Given the description of an element on the screen output the (x, y) to click on. 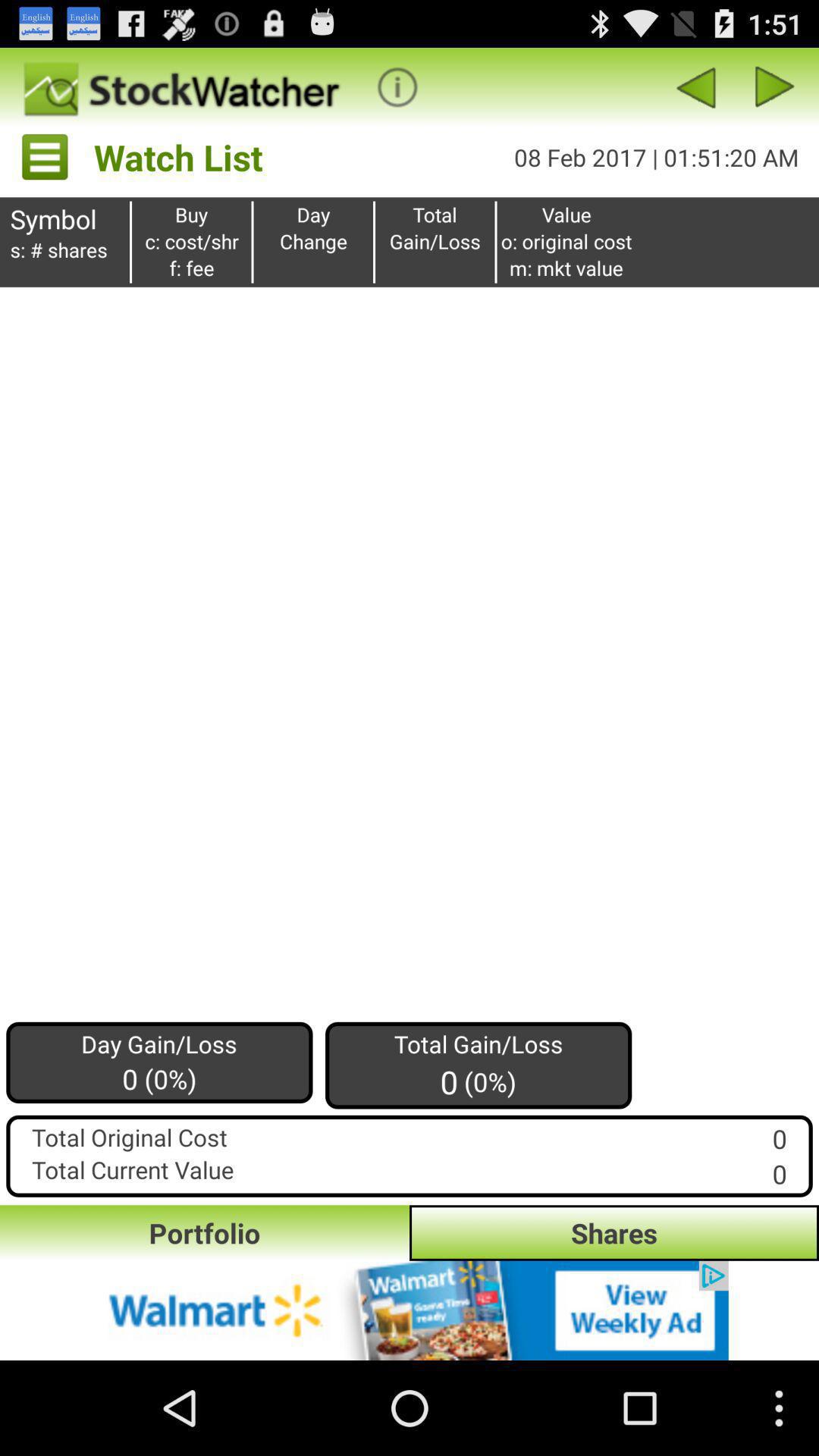
for ward (775, 87)
